Given the description of an element on the screen output the (x, y) to click on. 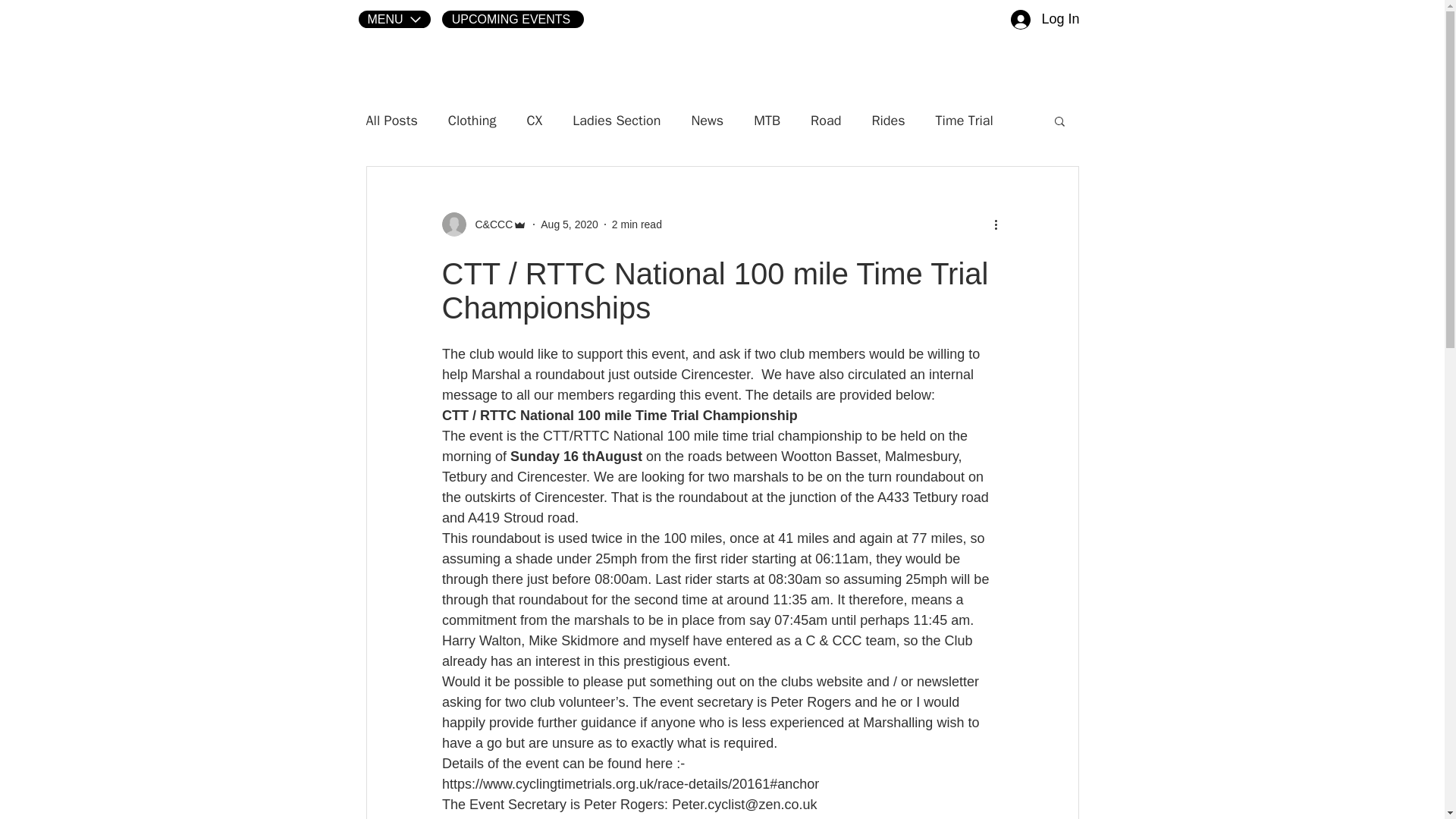
Road (825, 120)
Time Trial (964, 120)
MTB (767, 120)
Ladies Section (616, 120)
News (706, 120)
Clothing (472, 120)
Log In (1044, 18)
All Posts (390, 120)
UPCOMING EVENTS (512, 18)
Rides (887, 120)
MENU (393, 18)
Aug 5, 2020 (569, 224)
2 min read (636, 224)
